Given the description of an element on the screen output the (x, y) to click on. 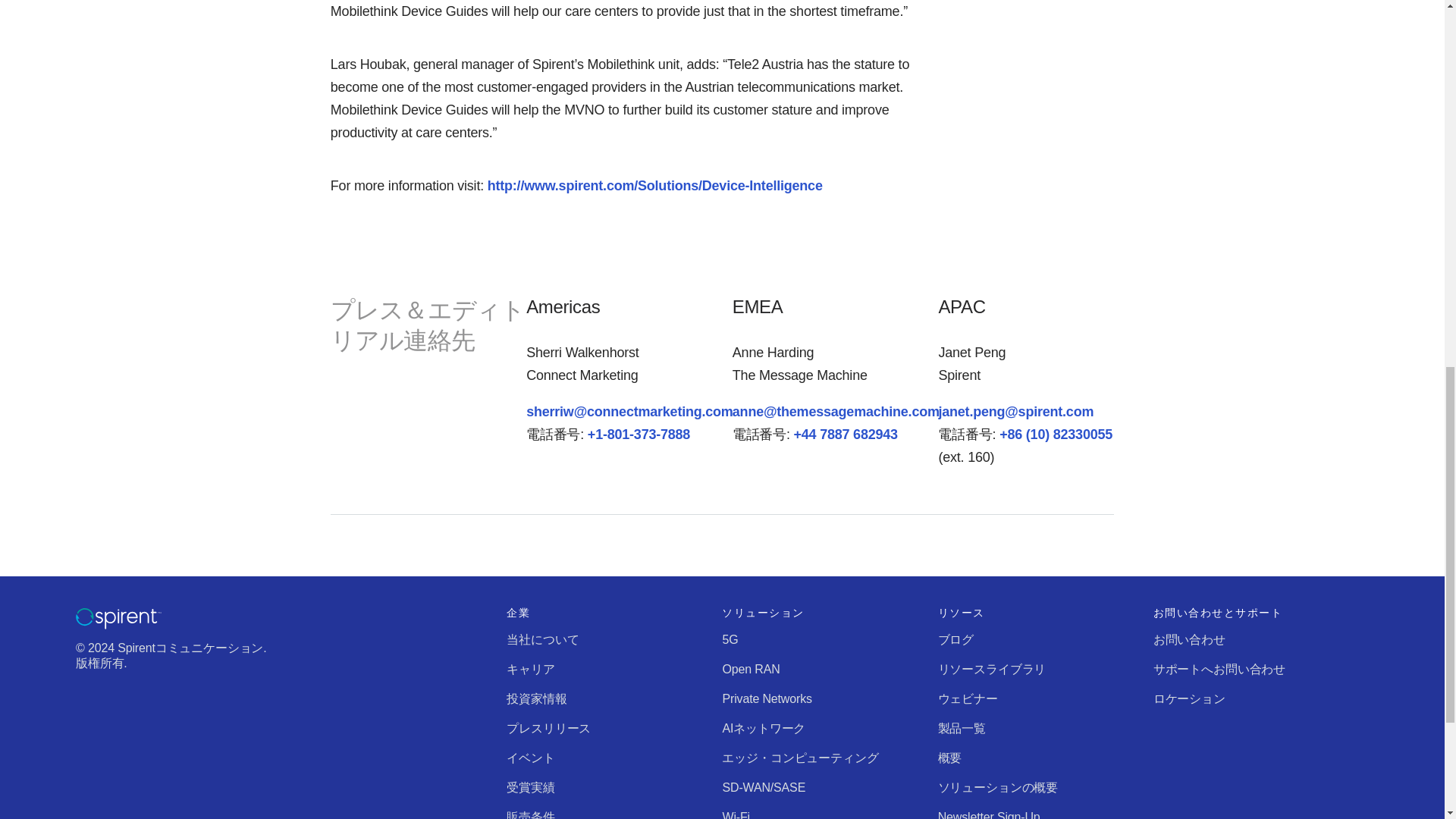
Open RAN (750, 668)
5G (730, 639)
Private Networks (766, 698)
